Given the description of an element on the screen output the (x, y) to click on. 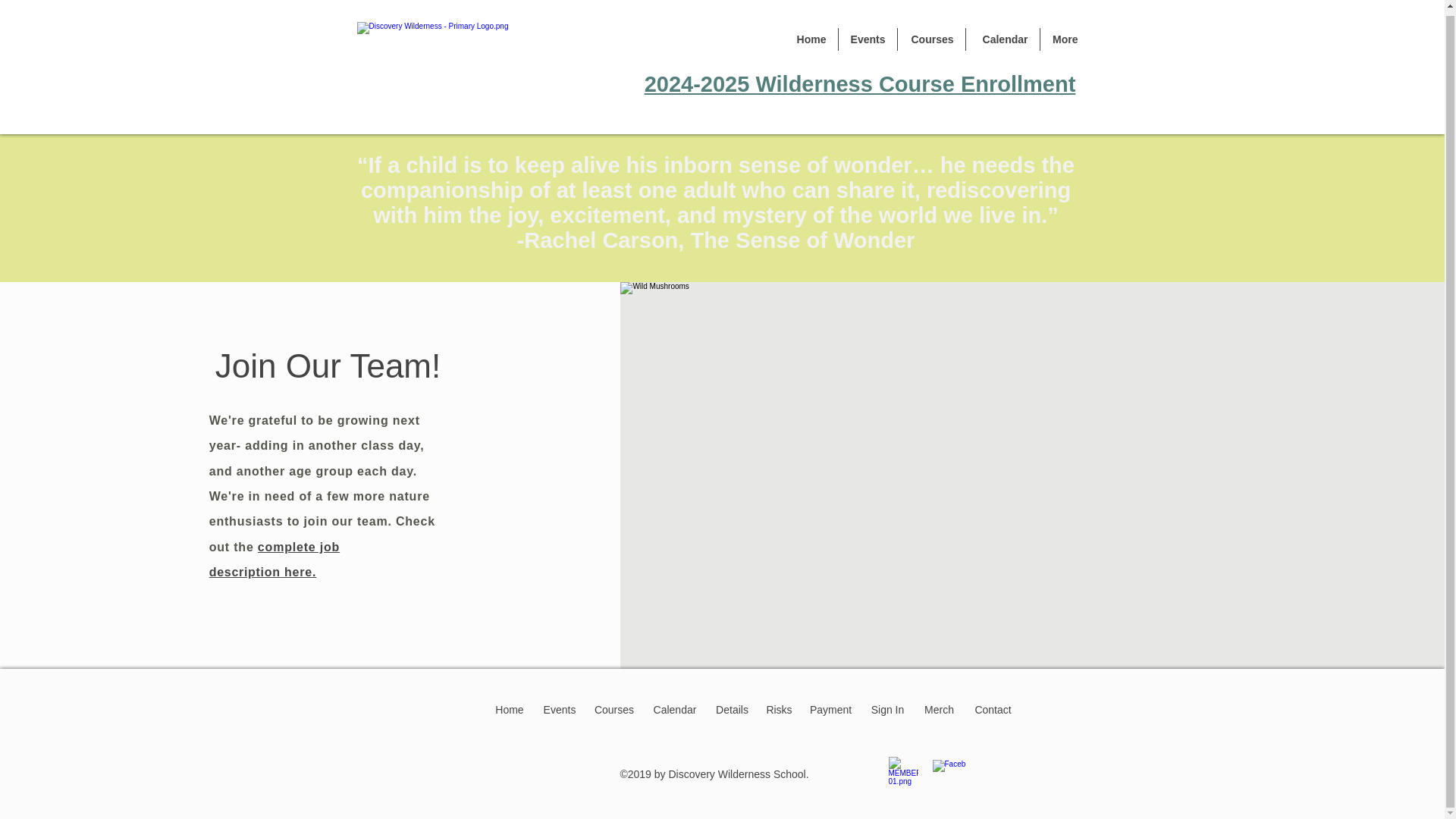
Events (867, 34)
Calendar (674, 709)
Home (810, 34)
Details (732, 709)
Courses (931, 34)
Courses (614, 709)
Events (559, 709)
Calendar (1002, 34)
complete job description here. (274, 558)
Home (509, 709)
